Given the description of an element on the screen output the (x, y) to click on. 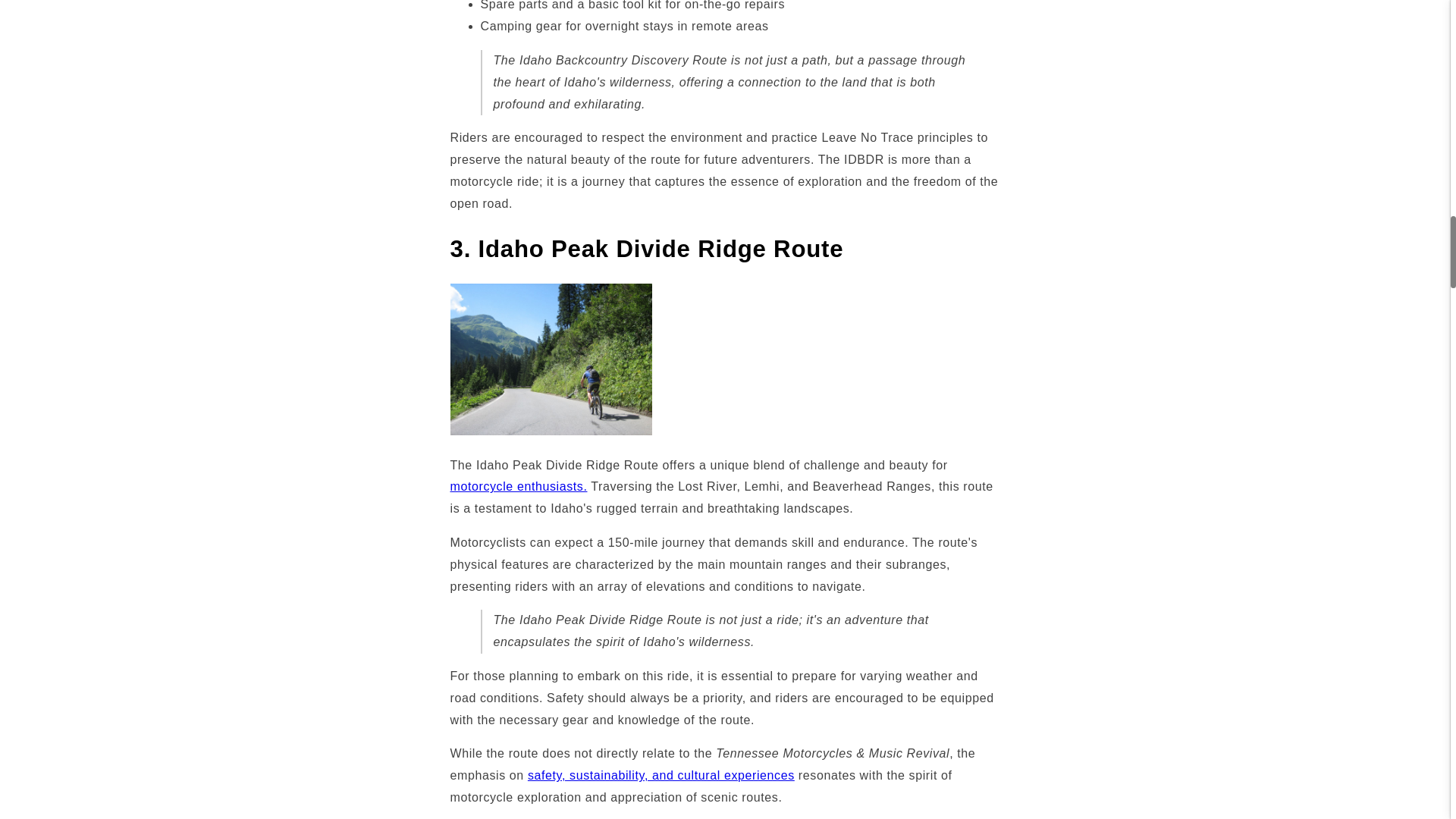
Winx Wheels Premium Motorcycle Accessories for Every Rider (518, 486)
Experience the Winx Wheels difference. (660, 775)
